Given the description of an element on the screen output the (x, y) to click on. 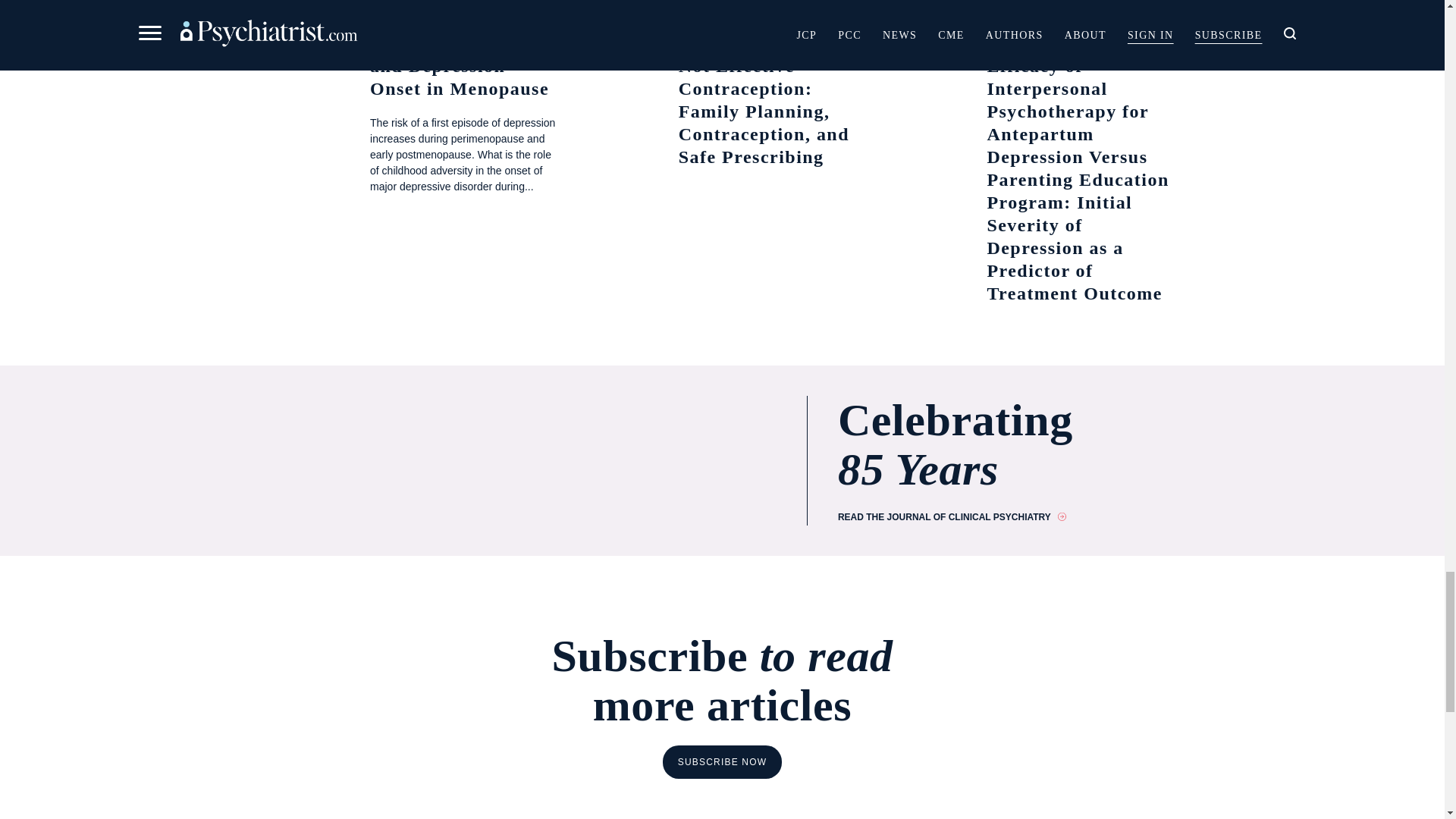
JCP (633, 39)
JCP (941, 39)
JCP (324, 39)
